Given the description of an element on the screen output the (x, y) to click on. 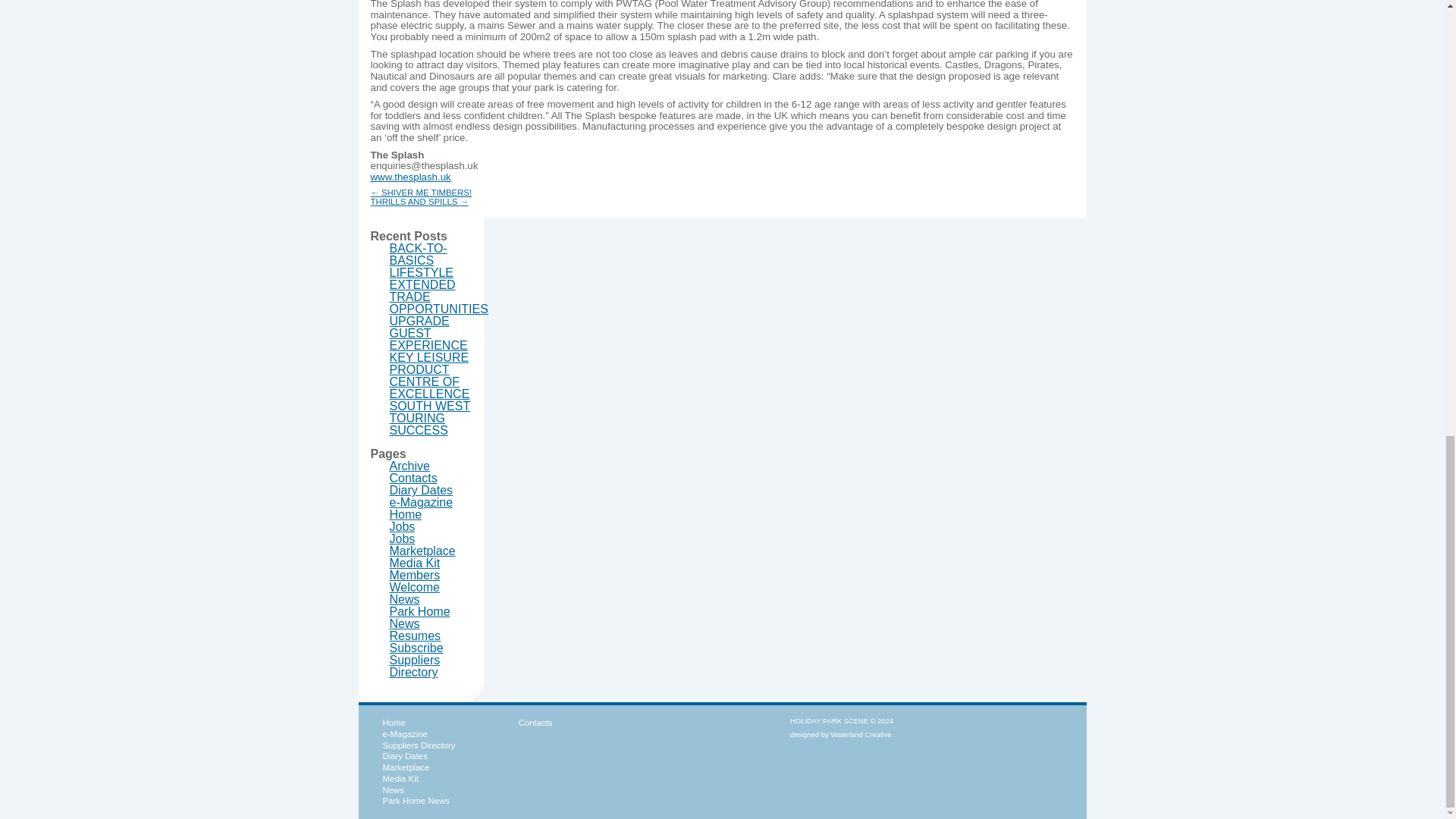
Marketplace (405, 767)
Suppliers Directory (417, 745)
UPGRADE GUEST EXPERIENCE (428, 333)
e-Magazine (403, 733)
Home (406, 513)
Members Welcome (415, 580)
e-Magazine (421, 502)
Media Kit (415, 562)
News (405, 599)
EXTENDED TRADE OPPORTUNITIES (438, 296)
Subscribe (417, 647)
Resumes (415, 635)
Home (392, 722)
Park Home News (419, 617)
BACK-TO-BASICS LIFESTYLE (421, 260)
